Given the description of an element on the screen output the (x, y) to click on. 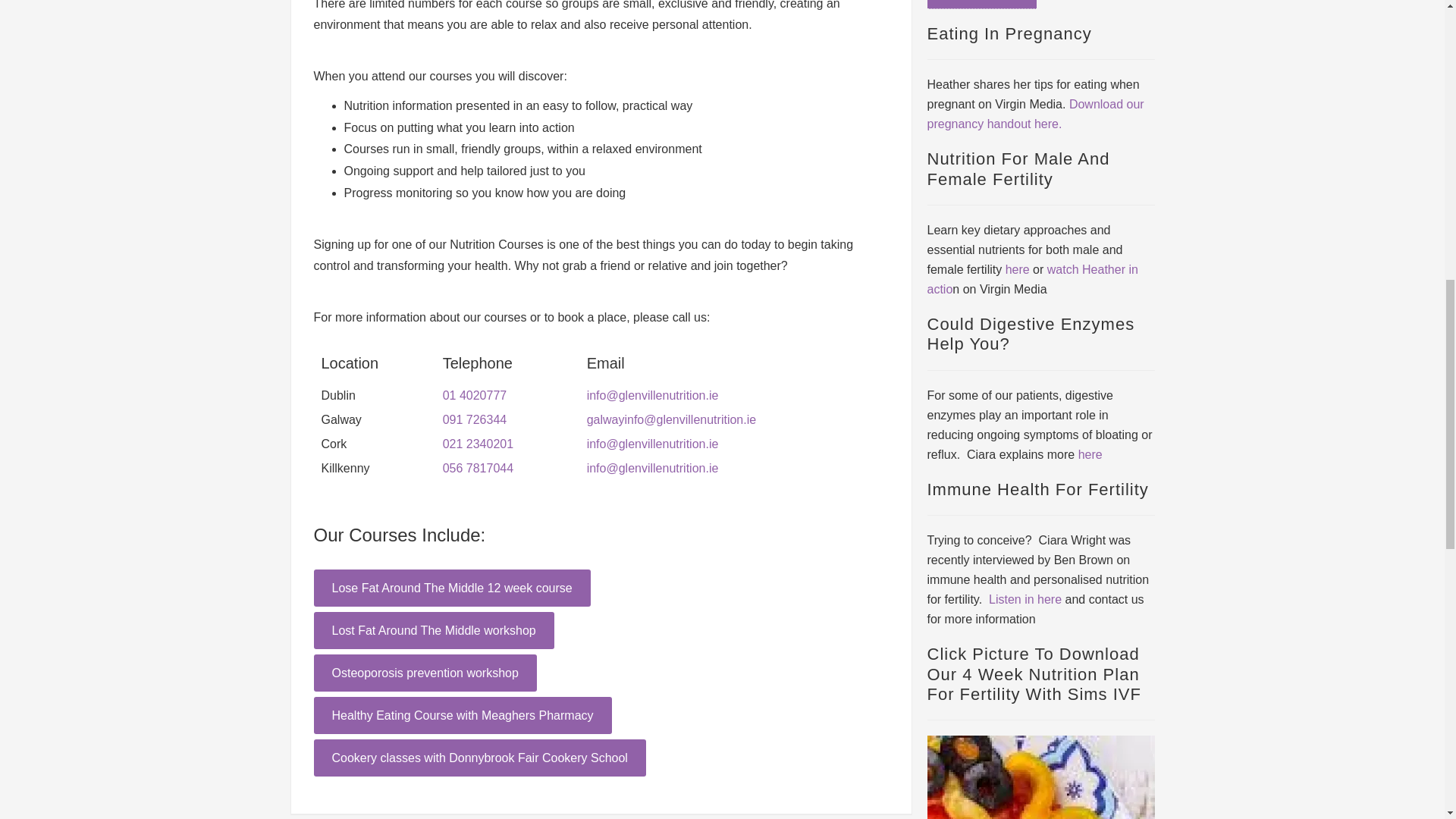
01 4020777 (474, 395)
